Given the description of an element on the screen output the (x, y) to click on. 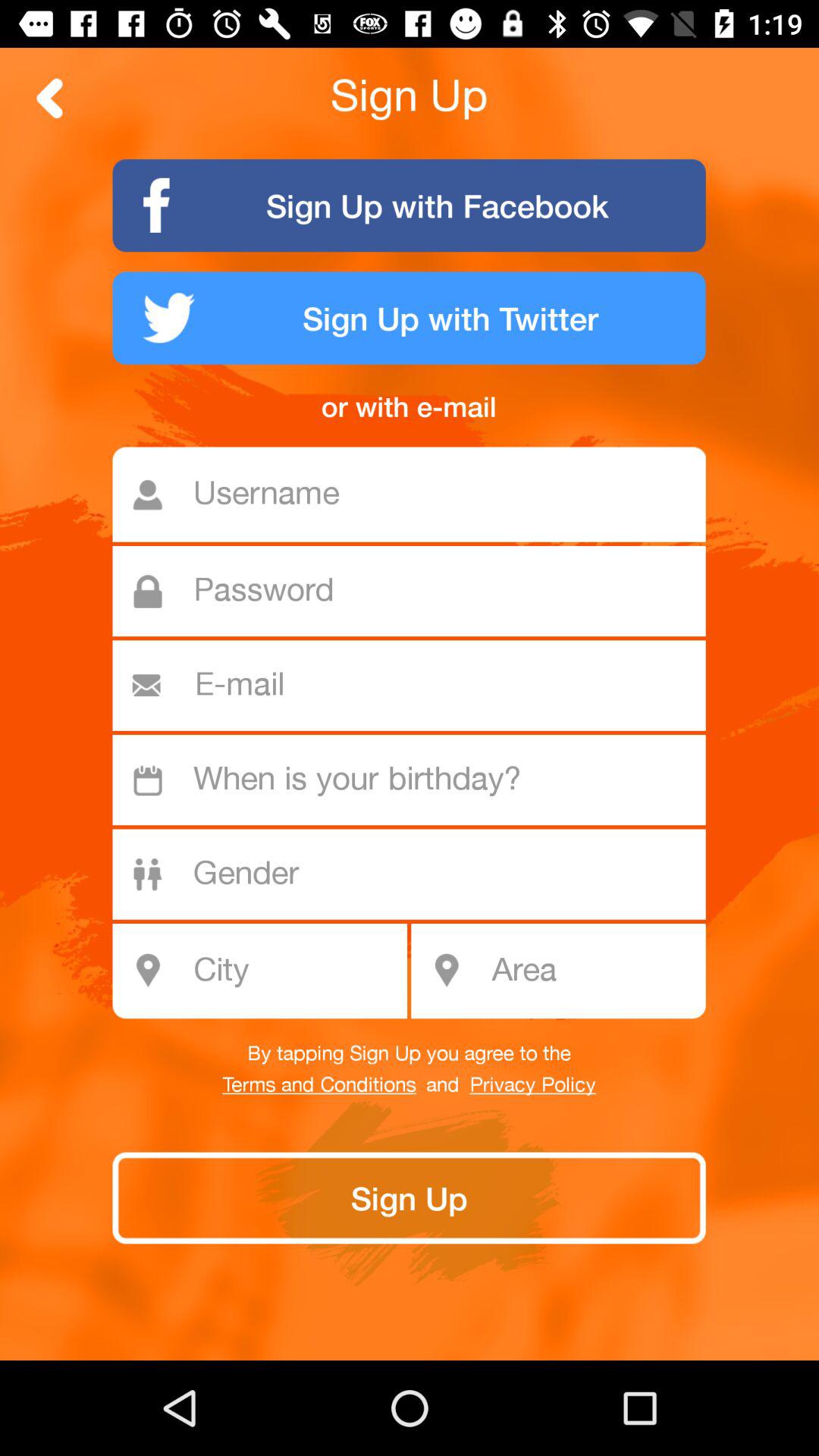
enter email address (416, 685)
